Given the description of an element on the screen output the (x, y) to click on. 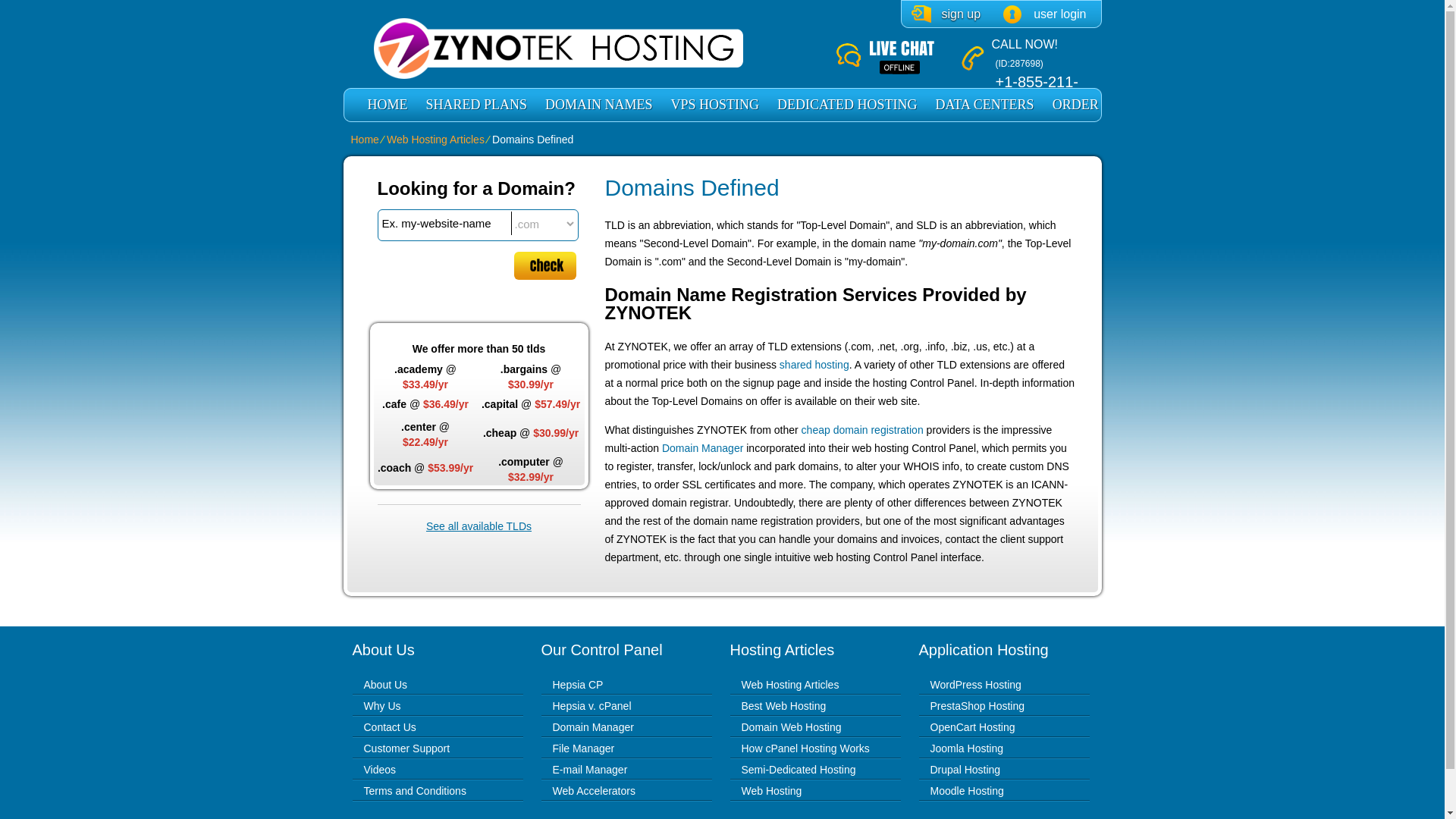
sign up (946, 13)
text (444, 223)
SHARED PLANS (476, 104)
Domain Manager (702, 448)
sign up (946, 13)
DATA CENTERS (984, 104)
Customer Support (406, 748)
Why Us (382, 705)
cheap domain registration (862, 429)
DEDICATED HOSTING (847, 104)
See all available TLDs (478, 526)
ORDER (1075, 104)
Contact Us (390, 727)
DOMAIN NAMES (598, 104)
Web Hosting Articles (435, 139)
